Given the description of an element on the screen output the (x, y) to click on. 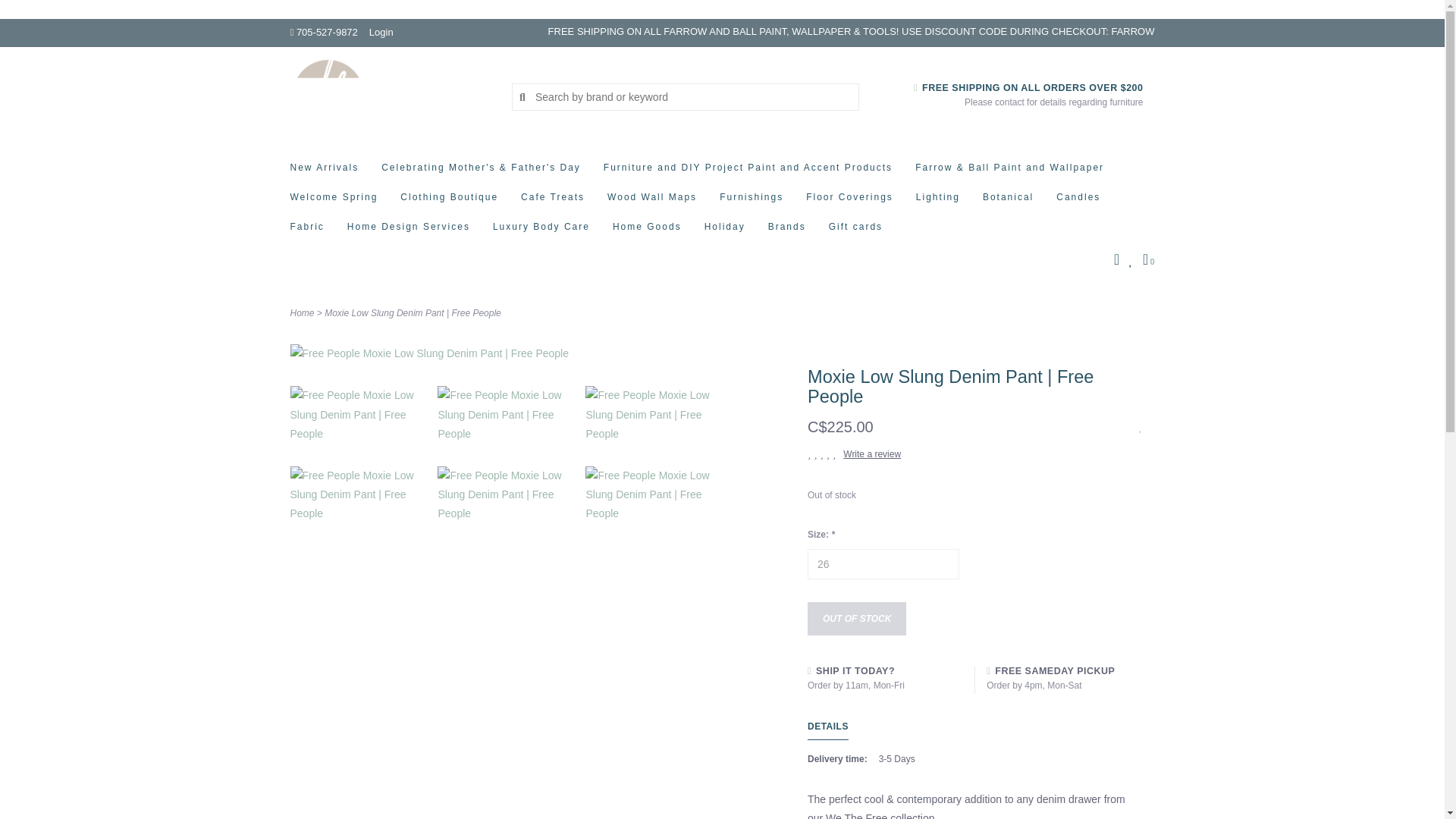
Login (381, 31)
Clothing Boutique (452, 201)
New Arrivals (327, 171)
705-527-9872 (322, 31)
Clothing Boutique (452, 201)
My account (381, 31)
Welcome Spring (337, 201)
Furniture and DIY Project Paint and Accent Products (751, 171)
Welcome Spring (337, 201)
Cafe Treats (556, 201)
Furniture and DIY Project Paint and Accent Products (751, 171)
